Given the description of an element on the screen output the (x, y) to click on. 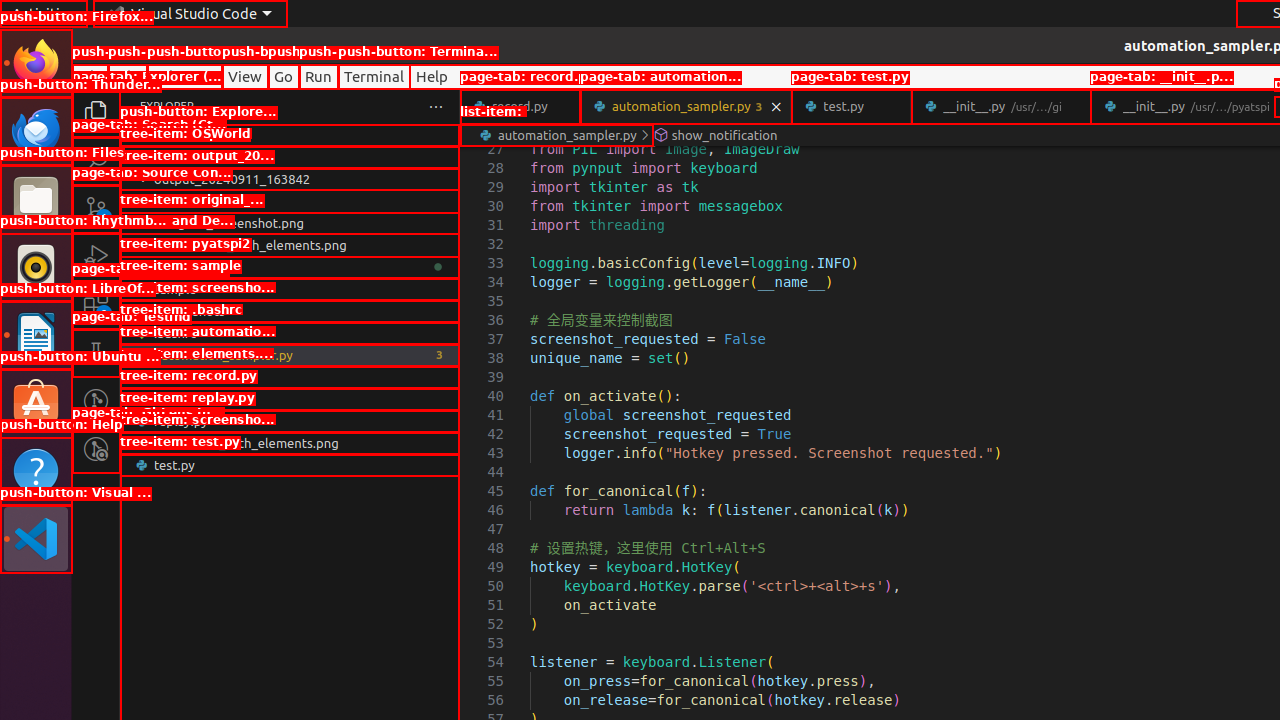
GitLens Inspect Element type: page-tab (96, 449)
original_screenshot.png Element type: tree-item (289, 223)
automation_sampler.py Element type: tree-item (289, 355)
record.py Element type: page-tab (520, 106)
